Given the description of an element on the screen output the (x, y) to click on. 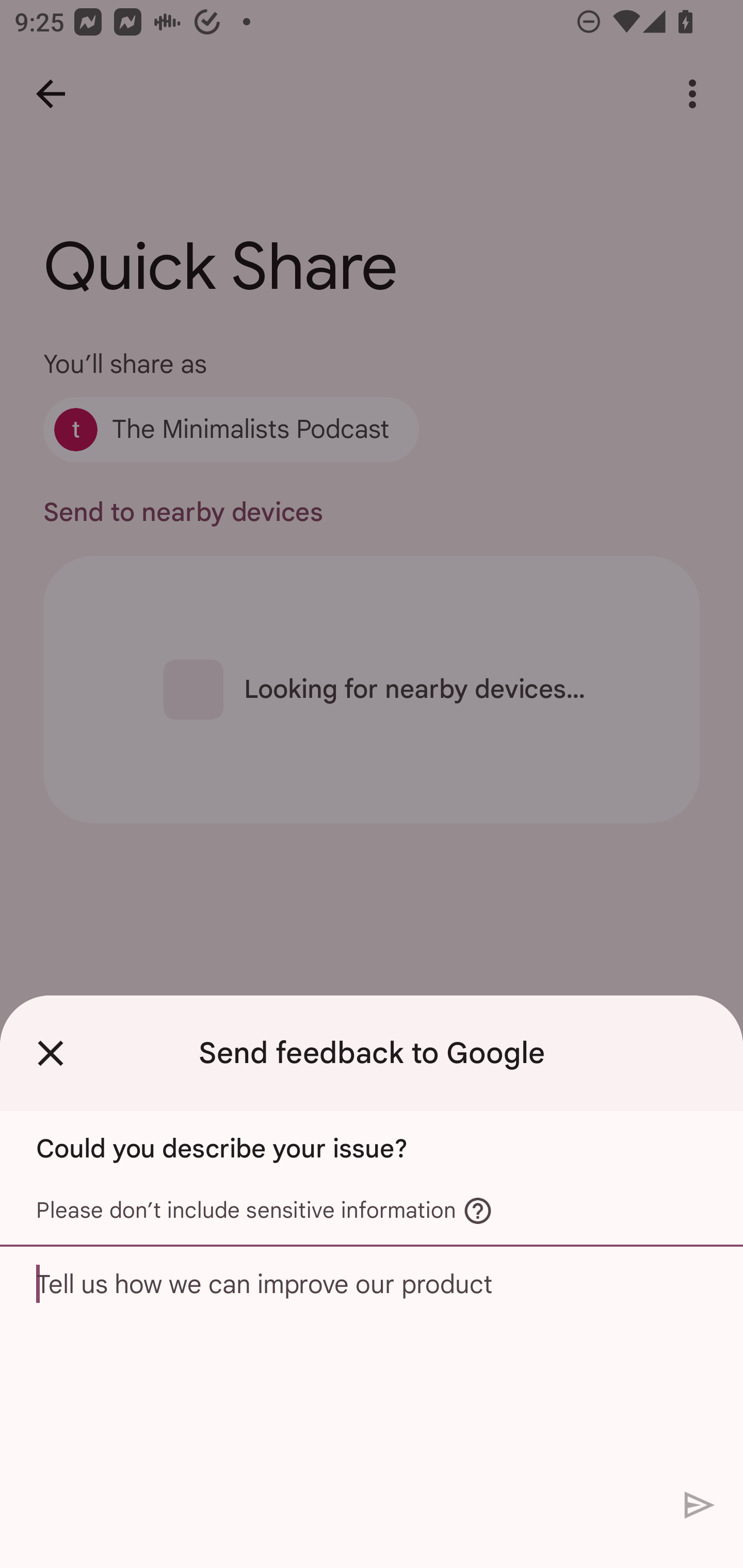
Close Feedback (50, 1052)
Tell us how we can improve our product (371, 1362)
Submit the feedback that you entered (699, 1504)
